Given the description of an element on the screen output the (x, y) to click on. 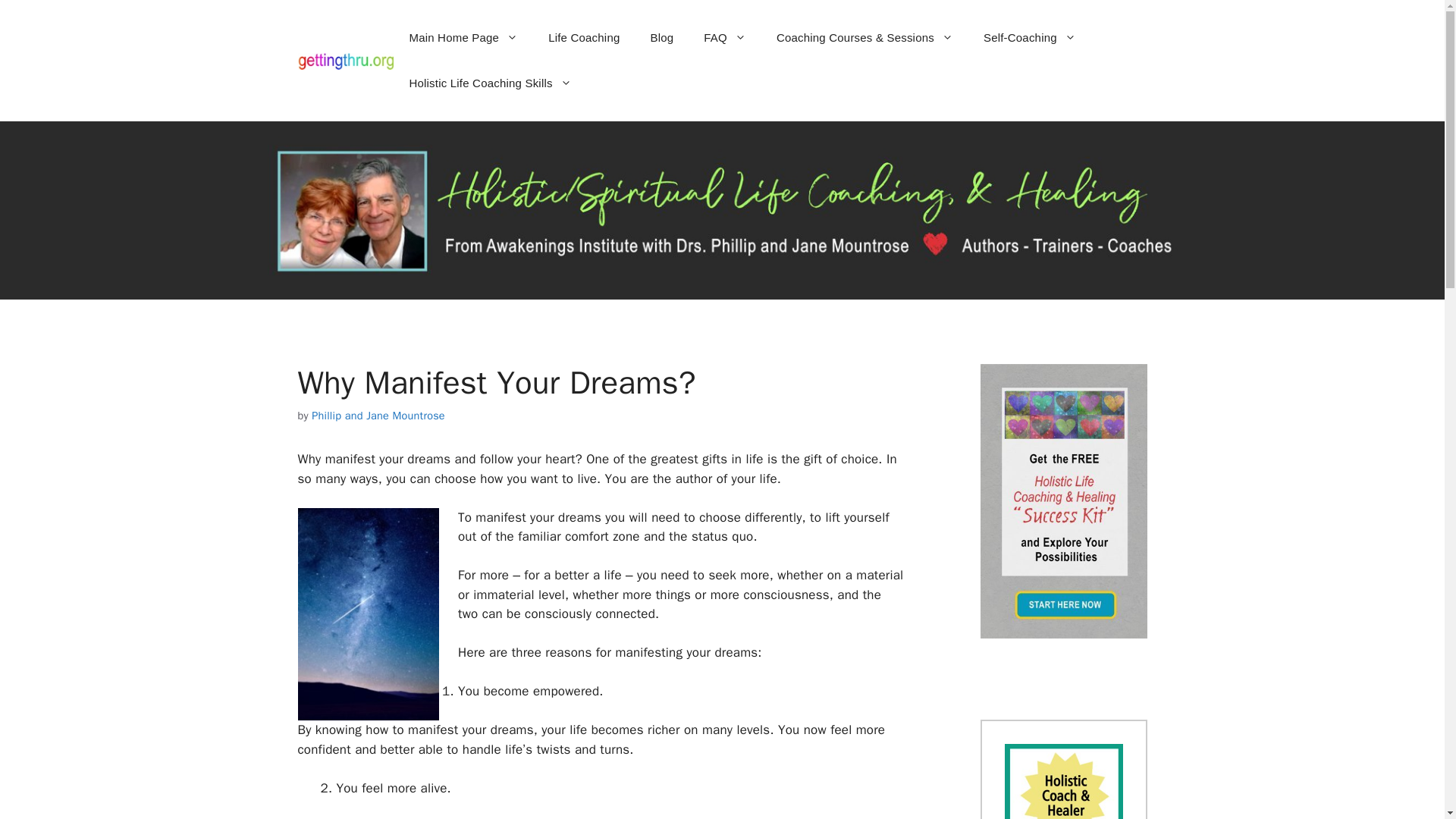
Holistic Life Coaching Skills (489, 83)
Blog (661, 37)
FAQ (724, 37)
Self-Coaching (1029, 37)
Main Home Page (462, 37)
View all posts by Phillip and Jane Mountrose (378, 415)
Life Coaching (583, 37)
Phillip and Jane Mountrose (378, 415)
